Given the description of an element on the screen output the (x, y) to click on. 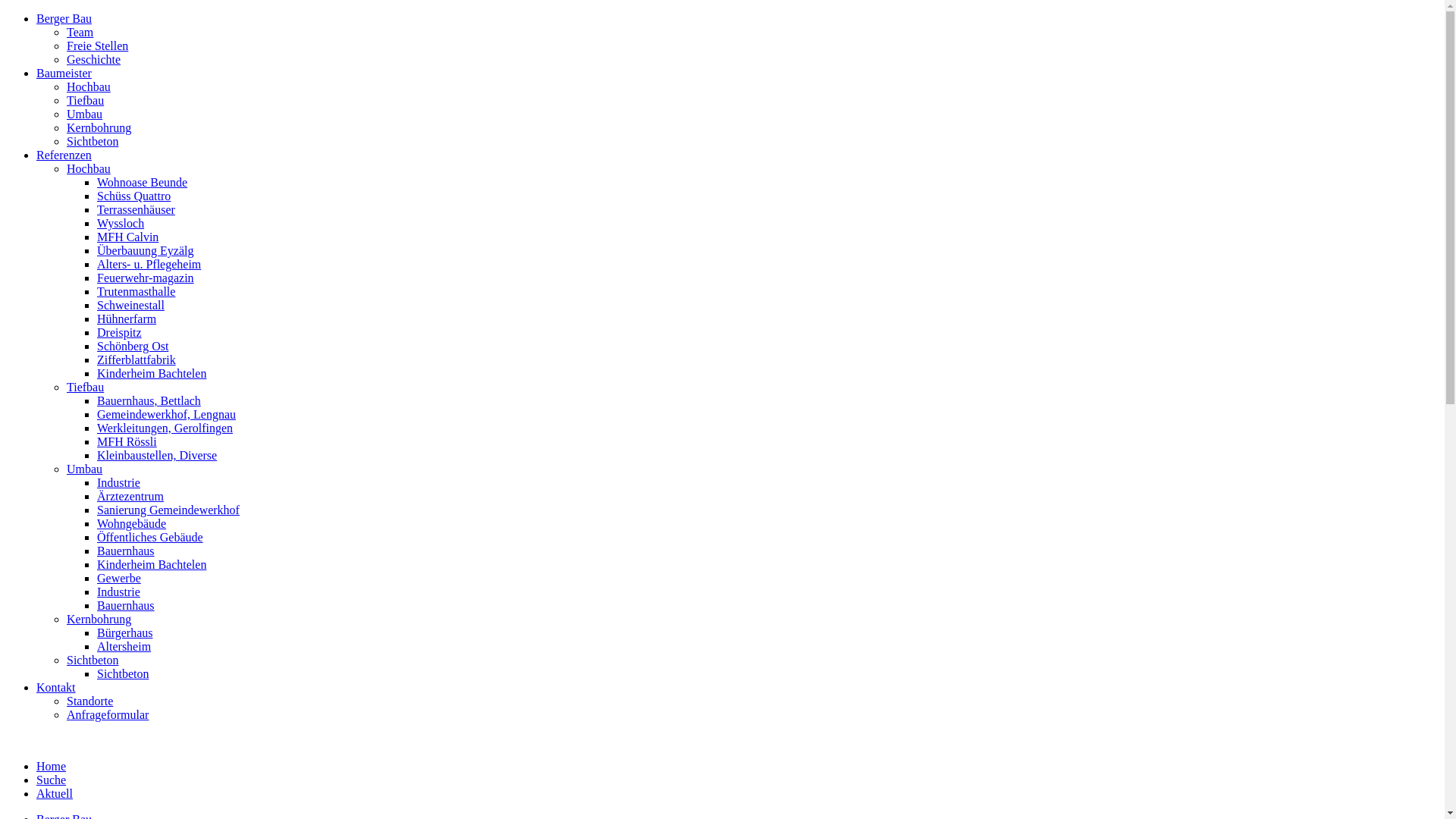
Hochbau Element type: text (88, 168)
Dreispitz Element type: text (119, 332)
Referenzen Element type: text (63, 154)
Kinderheim Bachtelen Element type: text (151, 373)
Umbau Element type: text (84, 468)
Trutenmasthalle Element type: text (136, 291)
Sichtbeton Element type: text (122, 673)
Sichtbeton Element type: text (92, 140)
Sichtbeton Element type: text (92, 659)
Team Element type: text (79, 31)
Standorte Element type: text (89, 700)
Wohnoase Beunde Element type: text (142, 181)
Kontakt Element type: text (55, 686)
Feuerwehr-magazin Element type: text (145, 277)
Kinderheim Bachtelen Element type: text (151, 564)
Industrie Element type: text (118, 591)
Industrie Element type: text (118, 482)
Altersheim Element type: text (123, 646)
Kernbohrung Element type: text (98, 618)
Zifferblattfabrik Element type: text (136, 359)
Umbau Element type: text (84, 113)
Anfrageformular Element type: text (107, 714)
Suche Element type: text (50, 779)
Freie Stellen Element type: text (97, 45)
Wyssloch Element type: text (120, 222)
Bauernhaus Element type: text (125, 605)
Bauernhaus Element type: text (125, 550)
MFH Calvin Element type: text (127, 236)
Tiefbau Element type: text (84, 386)
Home Element type: text (50, 765)
Baumeister Element type: text (63, 72)
Gemeindewerkhof, Lengnau Element type: text (166, 413)
Gewerbe Element type: text (119, 577)
Alters- u. Pflegeheim Element type: text (148, 263)
Aktuell Element type: text (54, 793)
Kleinbaustellen, Diverse Element type: text (156, 454)
Schweinestall Element type: text (130, 304)
Hochbau Element type: text (88, 86)
Tiefbau Element type: text (84, 100)
Berger Bau Element type: text (63, 18)
Werkleitungen, Gerolfingen Element type: text (164, 427)
Sanierung Gemeindewerkhof Element type: text (168, 509)
Kernbohrung Element type: text (98, 127)
Geschichte Element type: text (93, 59)
Bauernhaus, Bettlach Element type: text (148, 400)
